Given the description of an element on the screen output the (x, y) to click on. 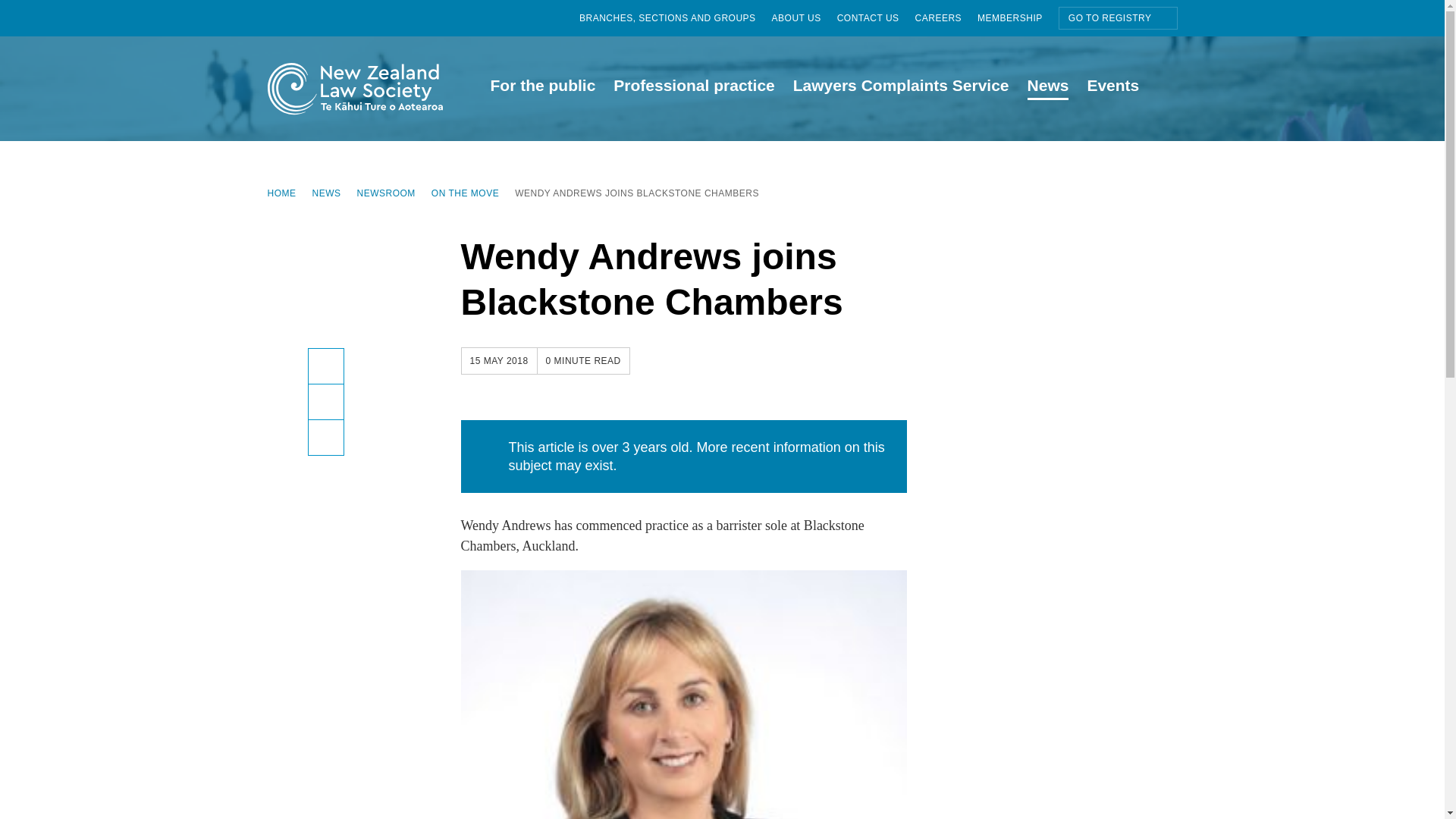
CAREERS (946, 18)
ABOUT US (804, 18)
BRANCHES, SECTIONS AND GROUPS (675, 18)
Professional practice (693, 88)
MEMBERSHIP (1017, 18)
GO TO REGISTRY (1117, 17)
For the public (542, 88)
CONTACT US (876, 18)
